Given the description of an element on the screen output the (x, y) to click on. 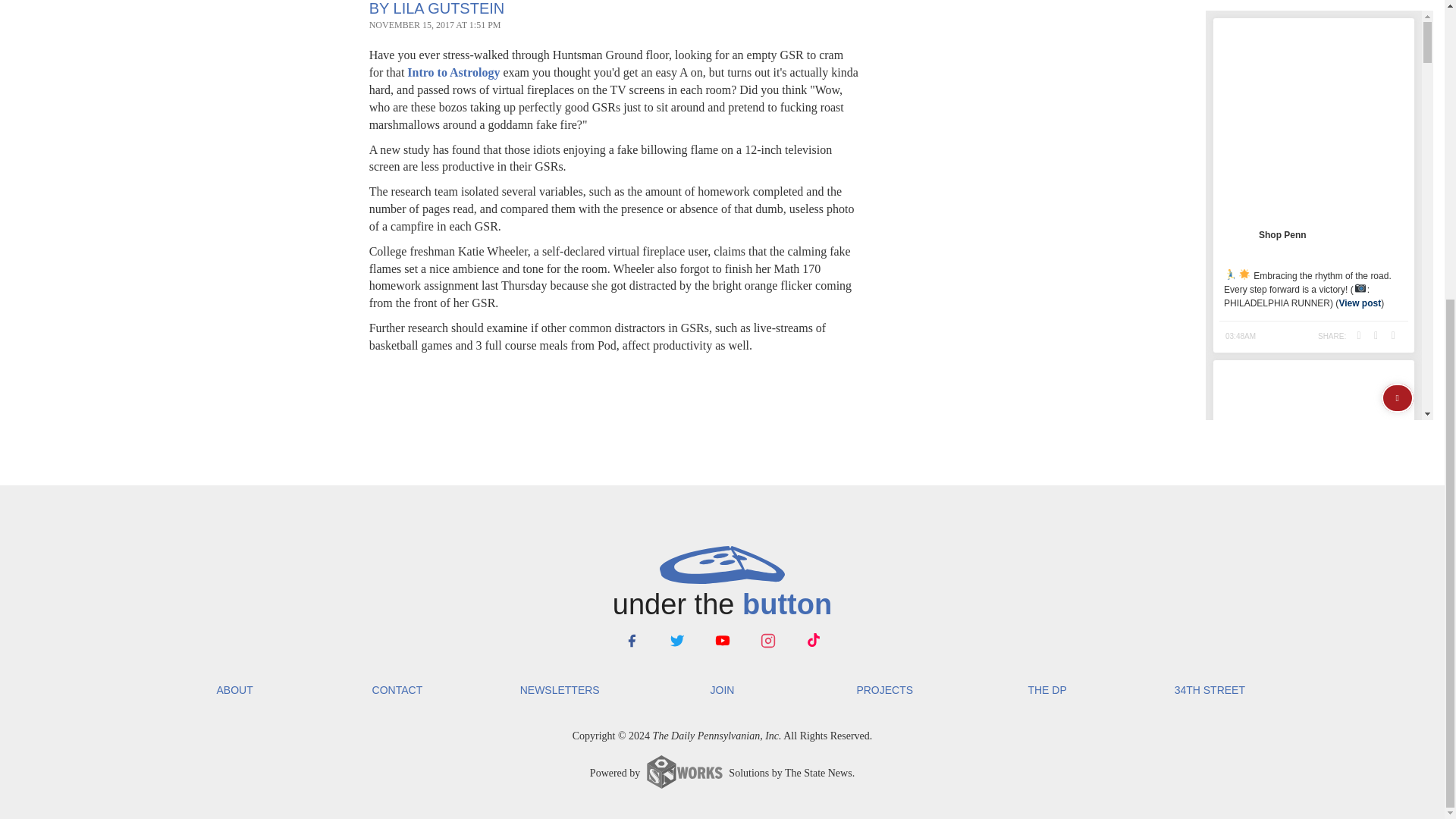
LILA GUTSTEIN (449, 8)
PROJECTS (884, 690)
34TH STREET (1209, 690)
NEWSLETTERS (559, 690)
JOIN (721, 690)
under the button (721, 584)
Intro to Astrology (453, 72)
THE DP (1047, 690)
CONTACT (397, 690)
ABOUT (233, 690)
